Given the description of an element on the screen output the (x, y) to click on. 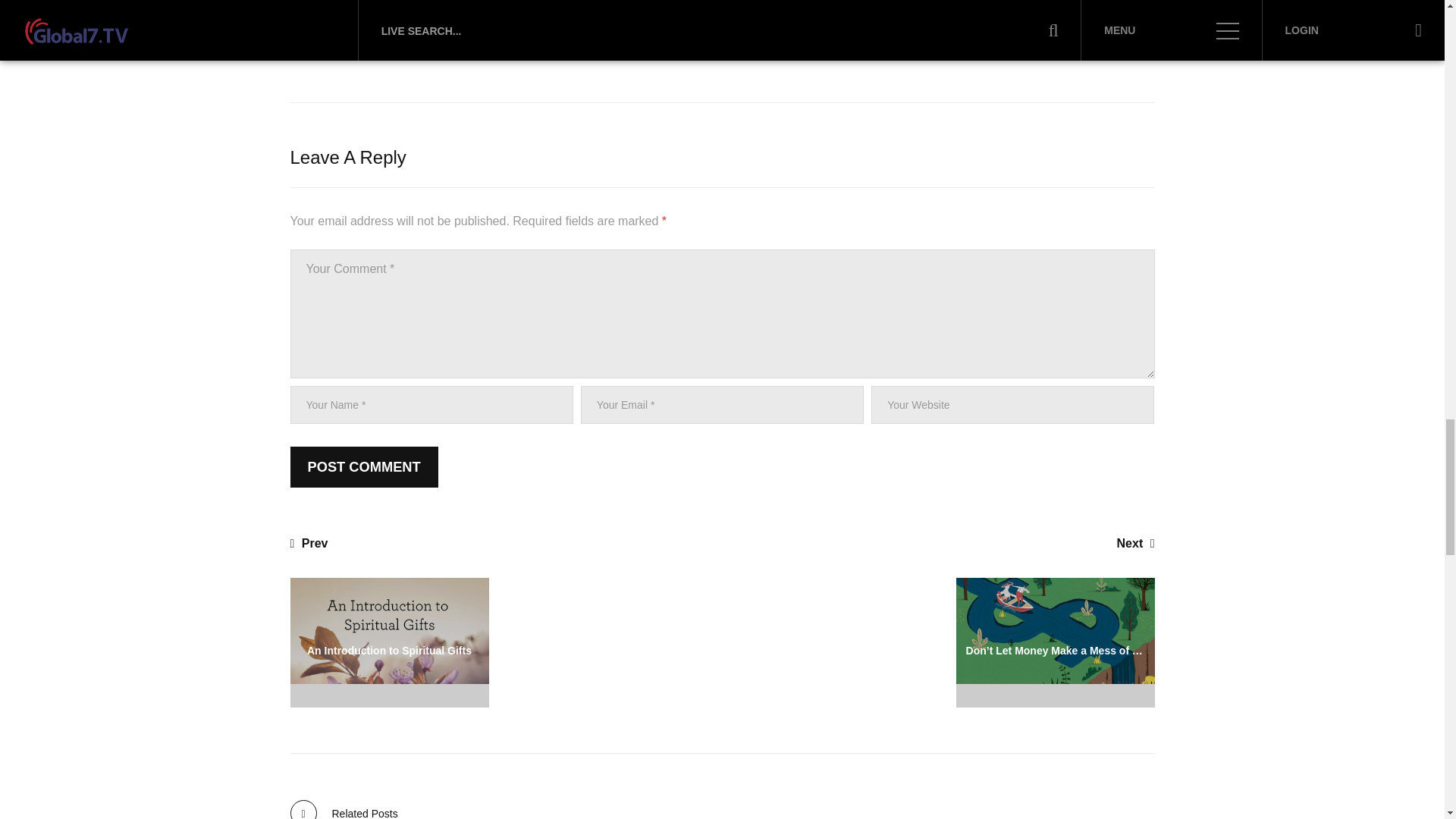
Post Comment (363, 466)
